Given the description of an element on the screen output the (x, y) to click on. 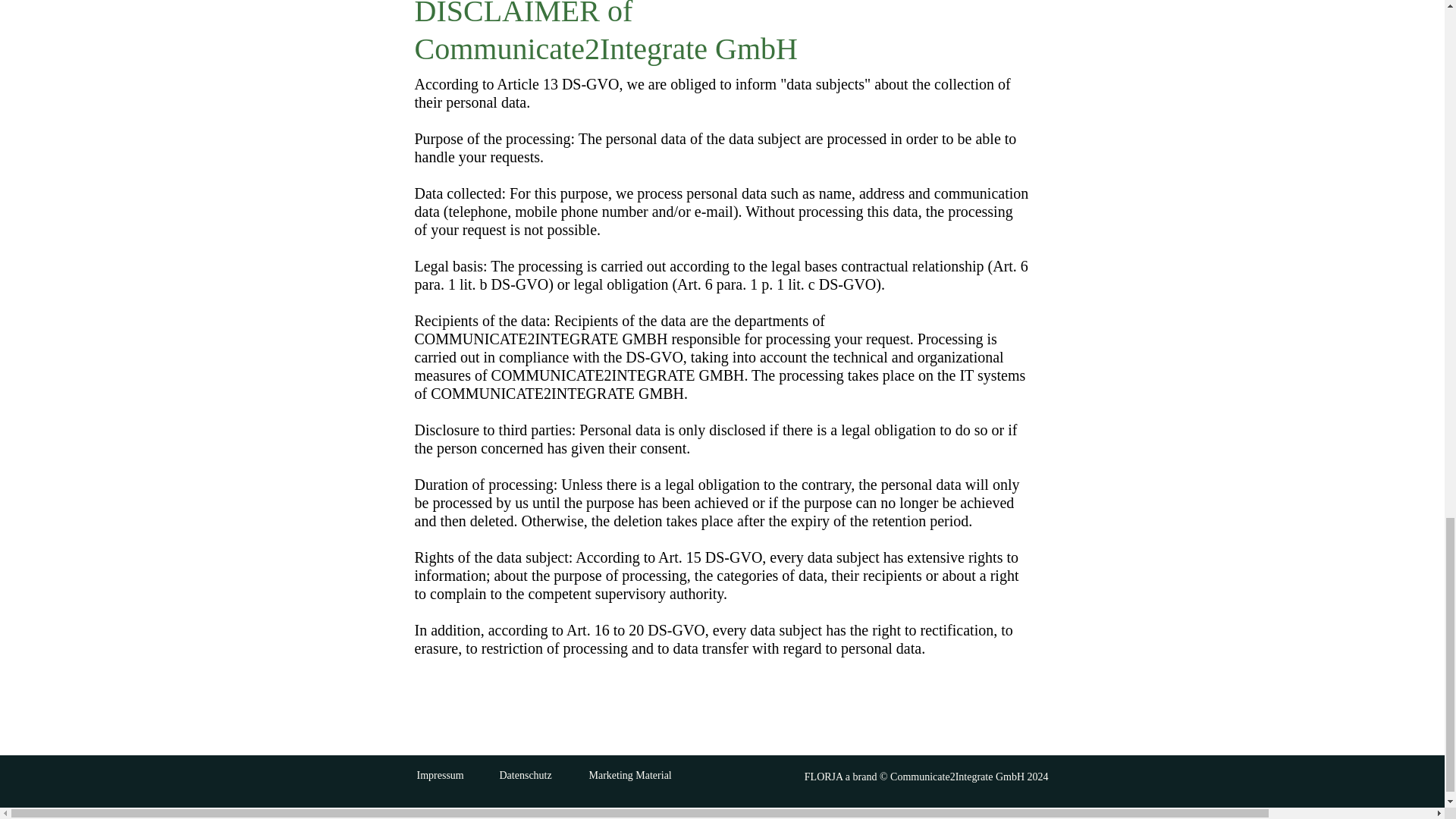
Datenschutz (525, 775)
Marketing Material (629, 775)
Impressum (440, 775)
